Given the description of an element on the screen output the (x, y) to click on. 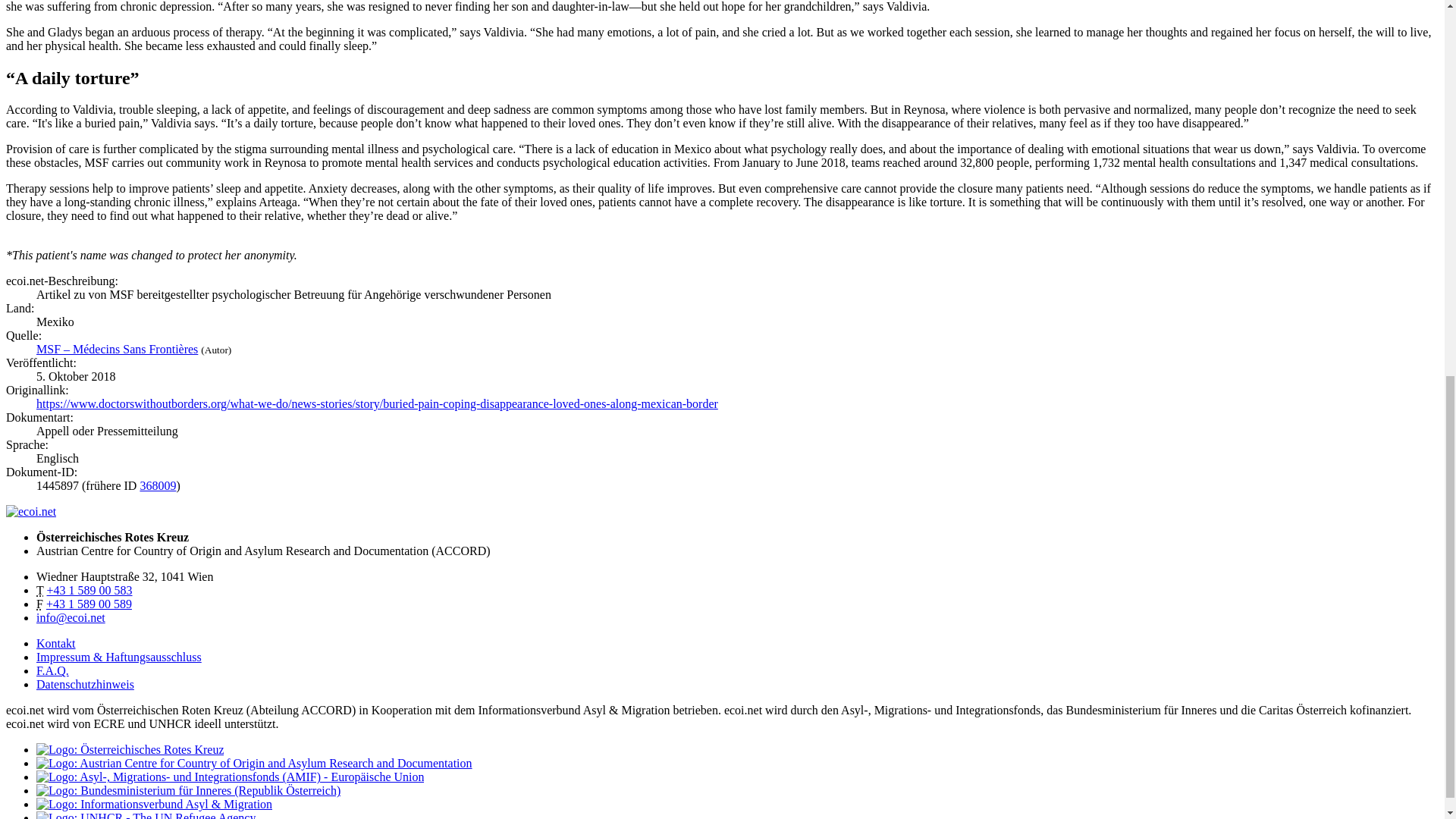
Fax (39, 603)
Telefon (39, 590)
Telefon (89, 590)
F.A.Q. (52, 670)
Quellenbeschreibung lesen (117, 349)
368009 (157, 485)
Fax (89, 603)
Datenschutzhinweis (84, 684)
Kontakt (55, 643)
